Given the description of an element on the screen output the (x, y) to click on. 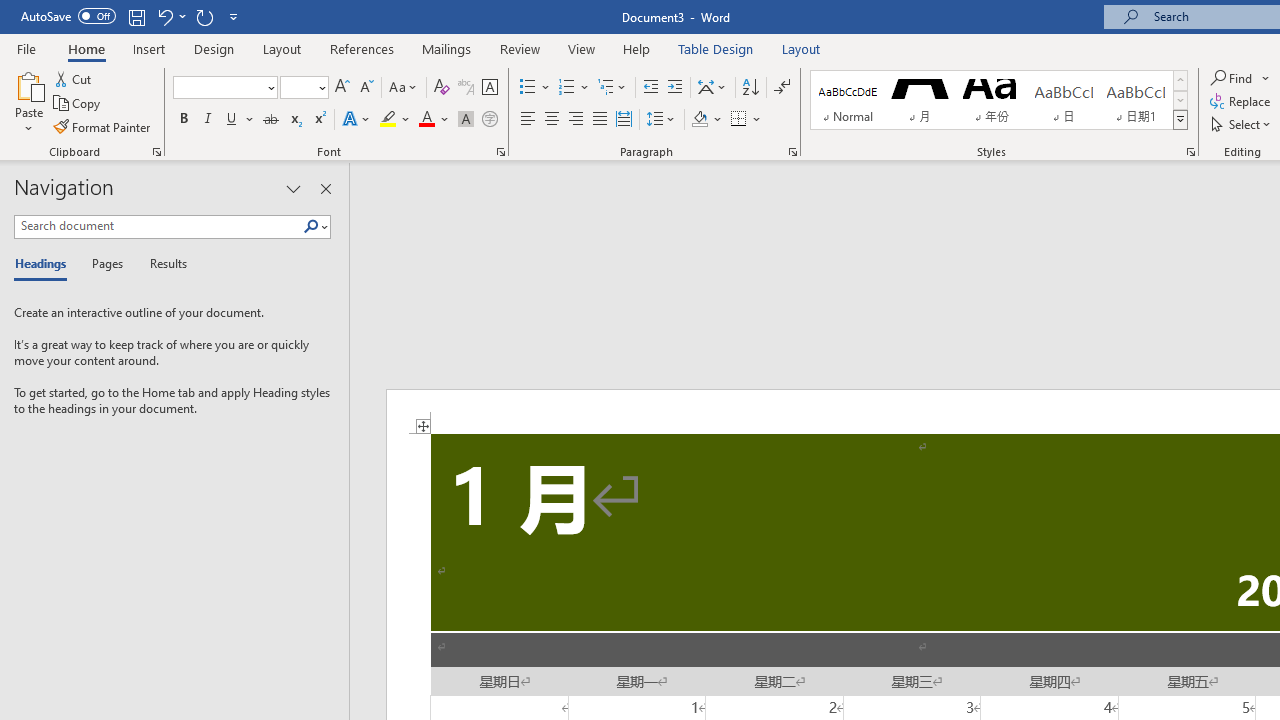
Search document (157, 226)
Clear Formatting (442, 87)
Superscript (319, 119)
Office Clipboard... (156, 151)
Increase Indent (675, 87)
Cut (73, 78)
Shrink Font (365, 87)
Customize Quick Access Toolbar (234, 15)
Text Effects and Typography (357, 119)
Multilevel List (613, 87)
Row Down (1179, 100)
